Given the description of an element on the screen output the (x, y) to click on. 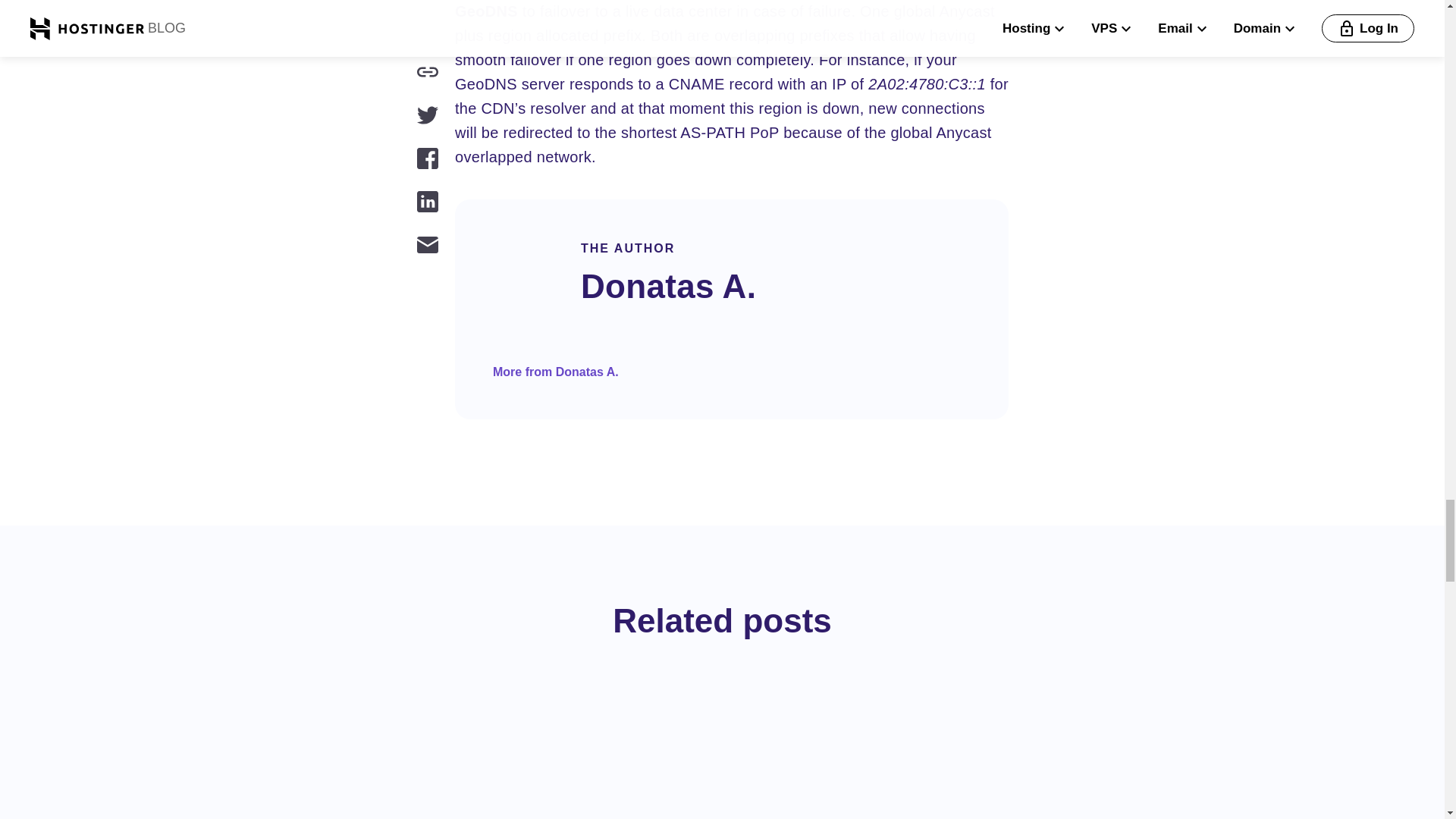
More from Donatas A. (555, 371)
